Given the description of an element on the screen output the (x, y) to click on. 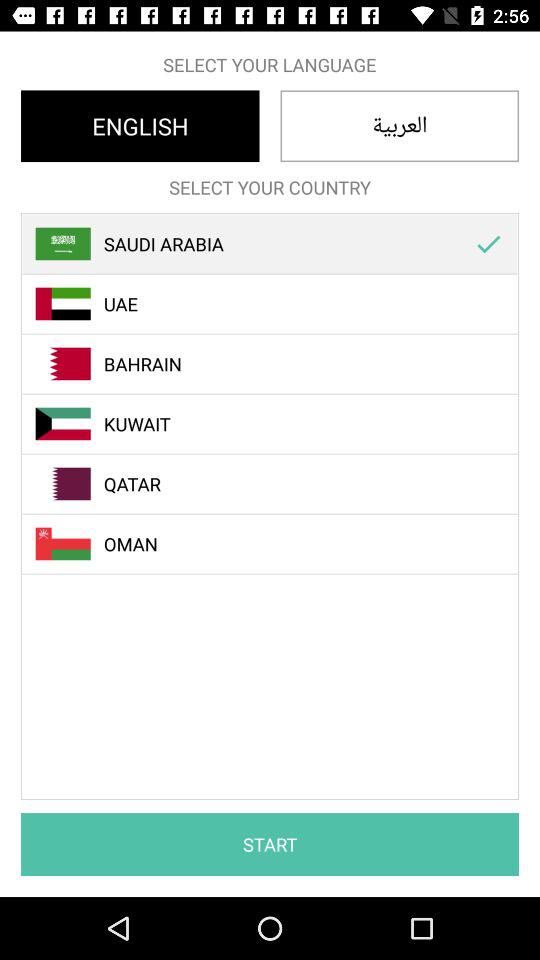
open the icon to the right of english (399, 126)
